Given the description of an element on the screen output the (x, y) to click on. 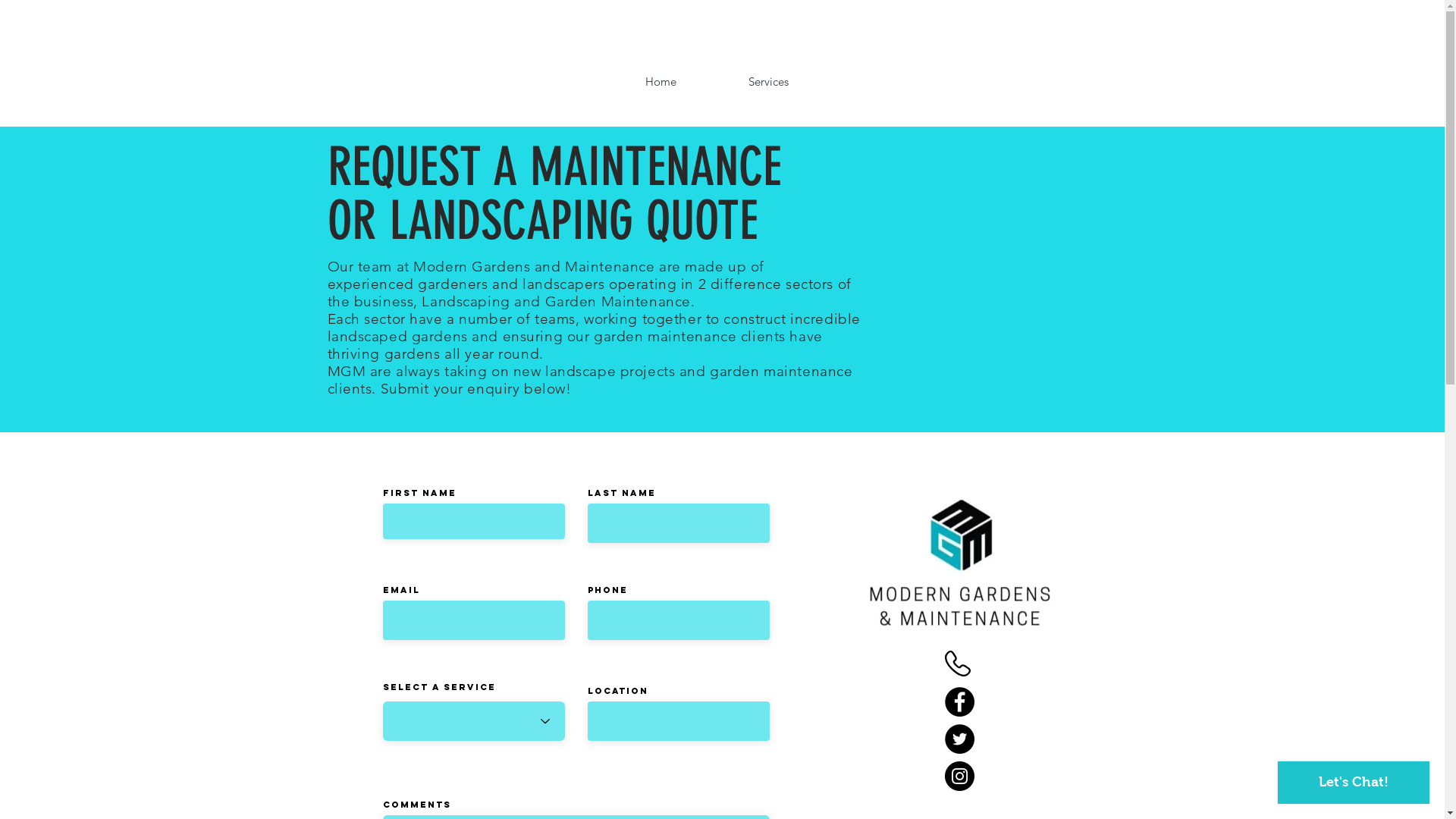
Services Element type: text (768, 80)
Home Element type: text (660, 80)
